Given the description of an element on the screen output the (x, y) to click on. 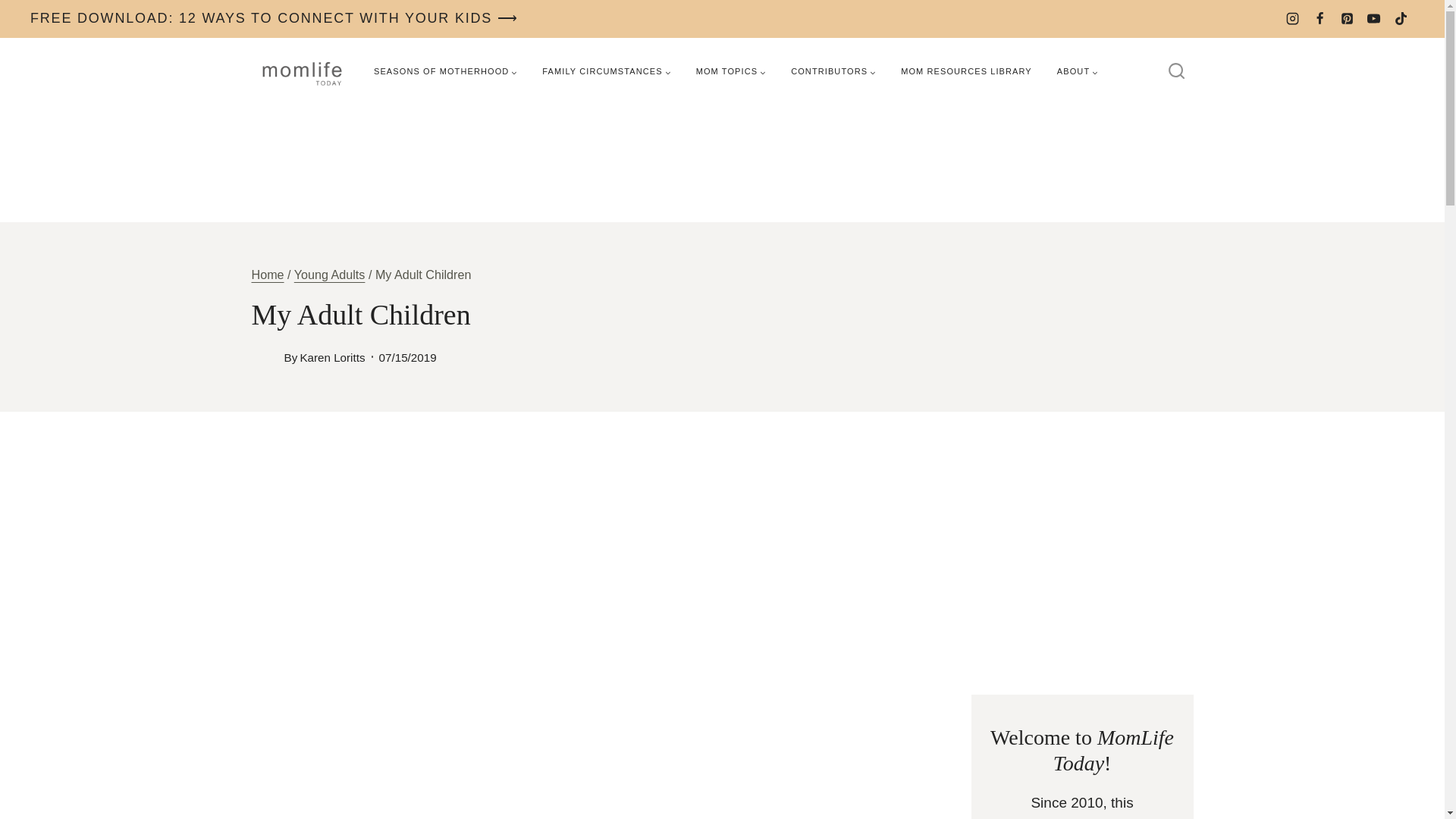
ABOUT (1076, 71)
FAMILY CIRCUMSTANCES (605, 71)
CONTRIBUTORS (833, 71)
MOM RESOURCES LIBRARY (966, 71)
MOM TOPICS (730, 71)
SEASONS OF MOTHERHOOD (445, 71)
